Given the description of an element on the screen output the (x, y) to click on. 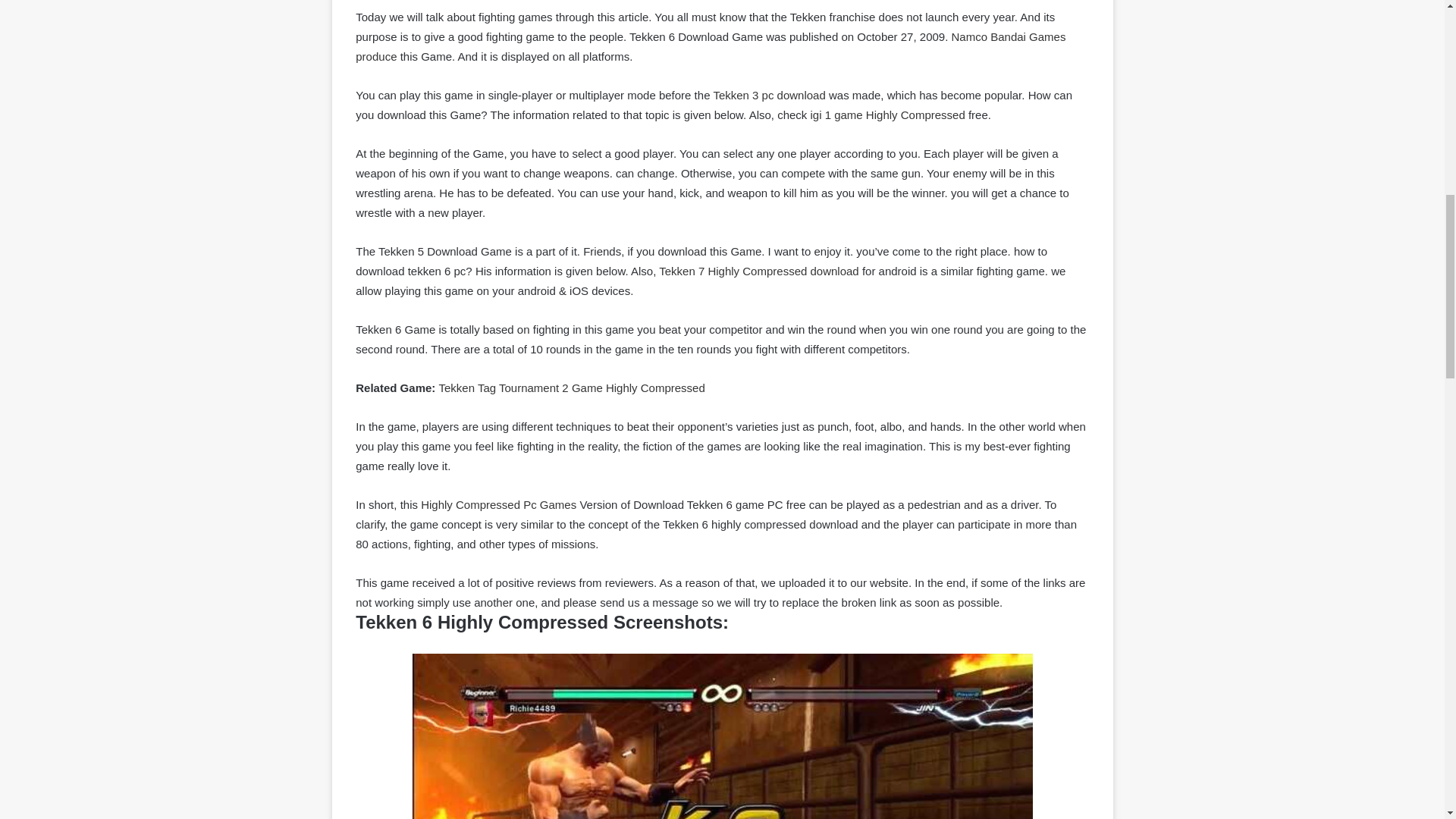
Namco Bandai Games produce (710, 46)
Tekken 7 Highly Compressed download (759, 270)
Tekken 3 pc download (769, 94)
igi 1 game Highly Compressed (886, 114)
Tekken Tag Tournament 2 Game Highly Compressed (571, 387)
Back to top button (1419, 62)
Highly Compressed Pc Games (498, 504)
Tekken 6 Highly Compressed Download For Pc Free (722, 736)
